Given the description of an element on the screen output the (x, y) to click on. 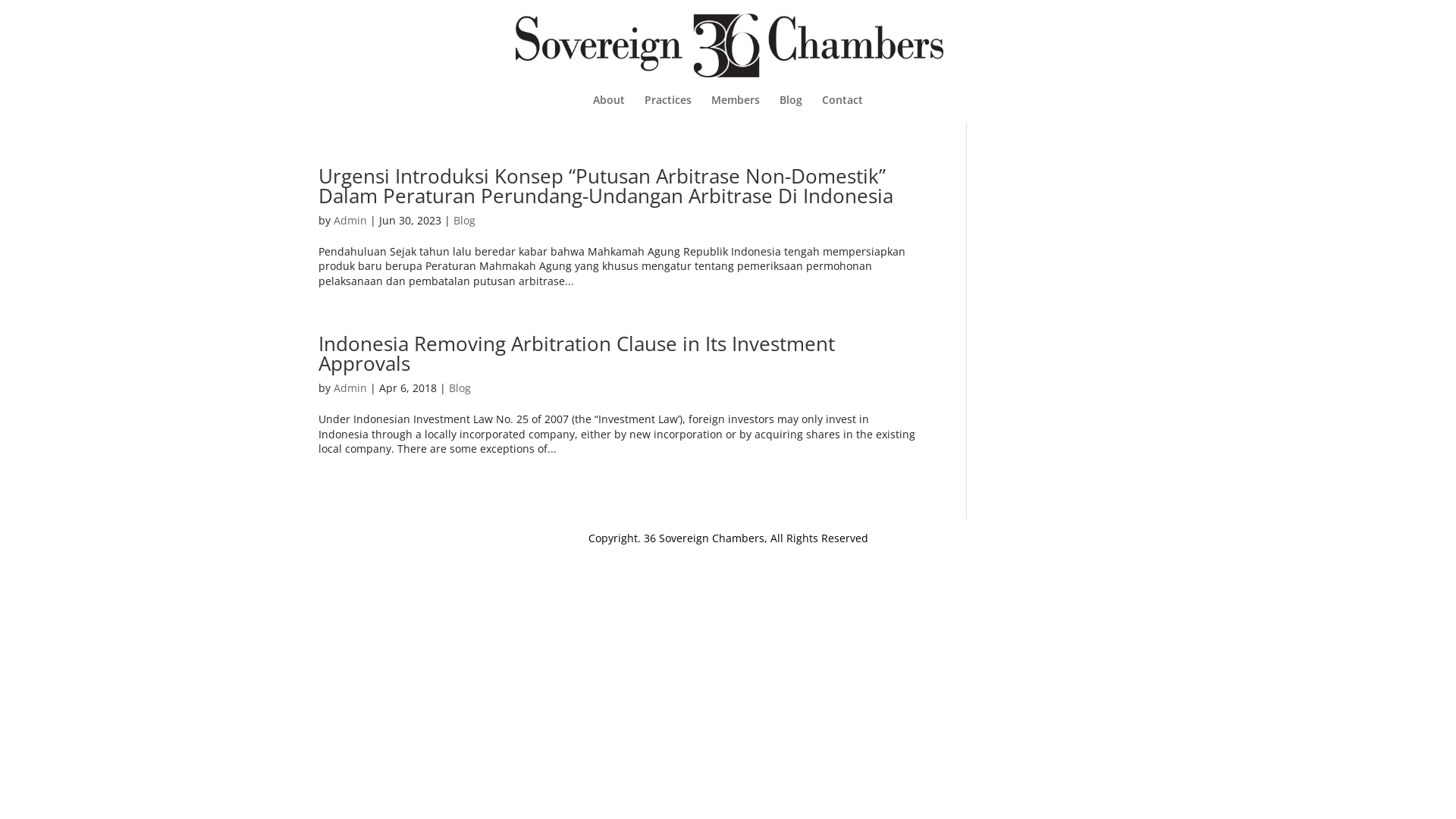
Contact Element type: text (842, 108)
Members Element type: text (735, 108)
Admin Element type: text (350, 220)
Blog Element type: text (790, 108)
Admin Element type: text (350, 387)
About Element type: text (608, 108)
Blog Element type: text (459, 387)
Practices Element type: text (667, 108)
Blog Element type: text (464, 220)
